Given the description of an element on the screen output the (x, y) to click on. 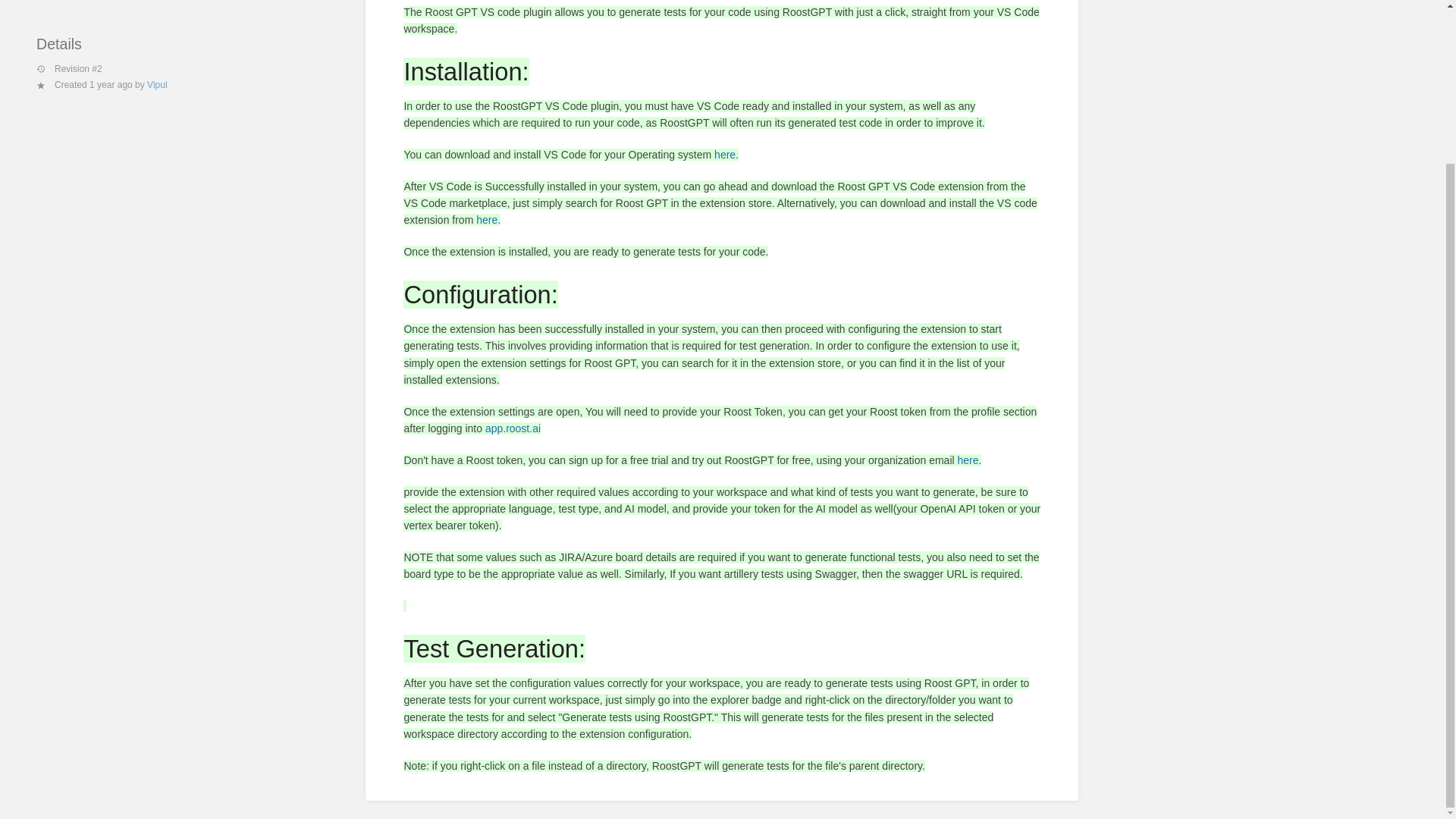
here (968, 460)
here. (488, 219)
here. (726, 154)
app.roost.ai (512, 428)
